Given the description of an element on the screen output the (x, y) to click on. 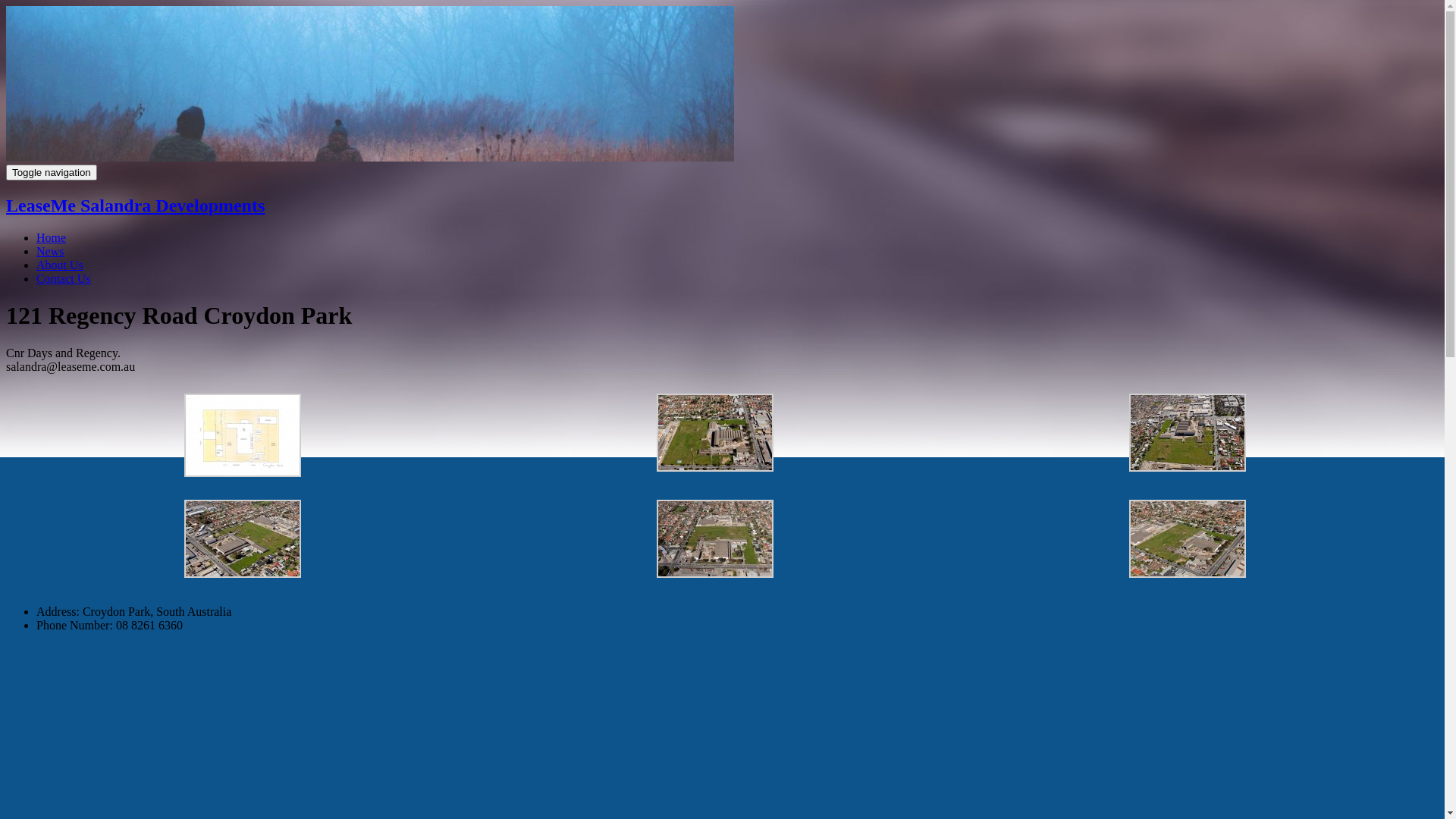
LeaseMe Salandra Developments Element type: text (135, 205)
Toggle navigation Element type: text (51, 172)
Contact Us Element type: text (63, 278)
News Element type: text (49, 250)
About Us Element type: text (59, 264)
Home Element type: text (50, 237)
